Given the description of an element on the screen output the (x, y) to click on. 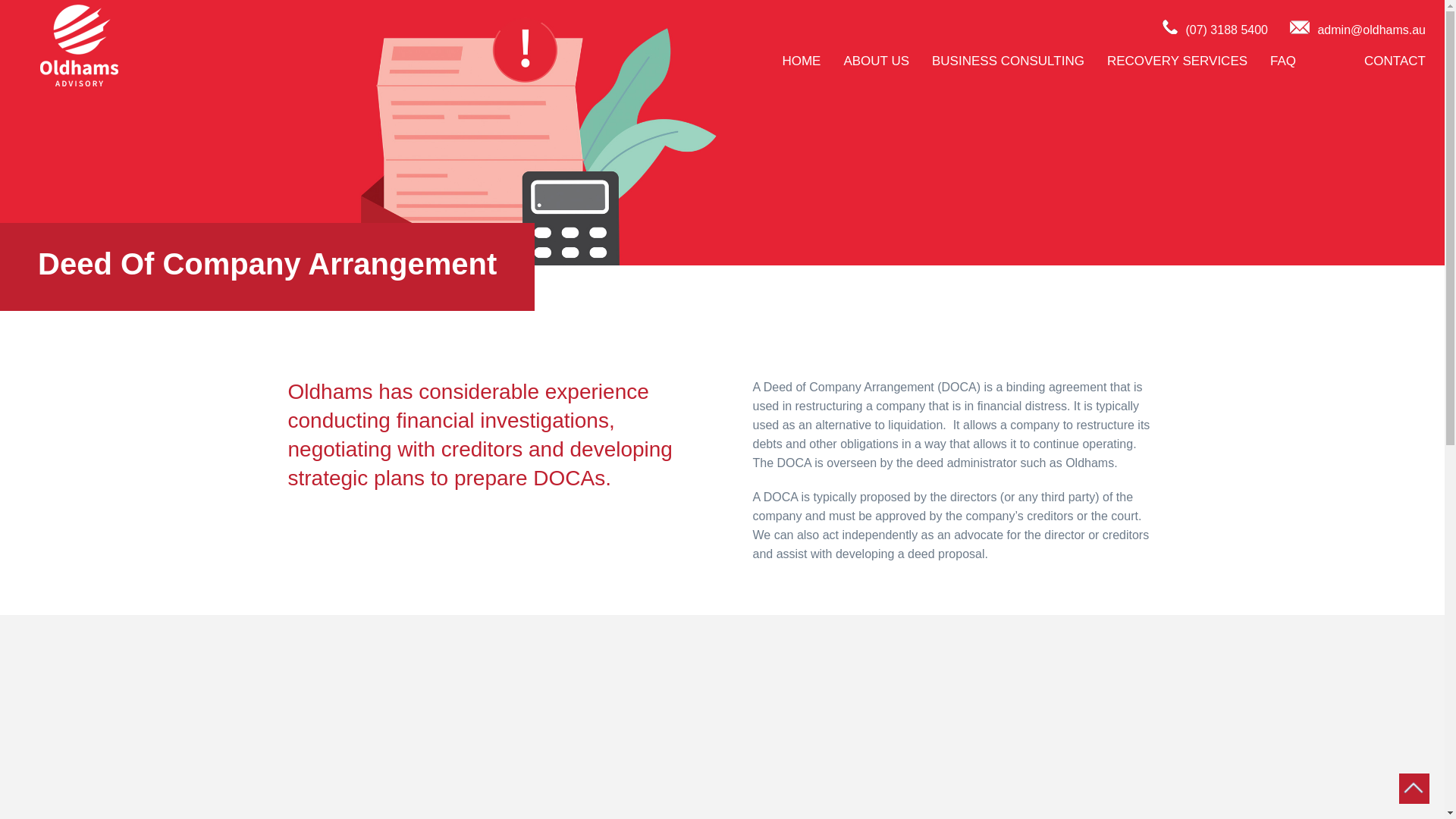
HOME (810, 60)
BUSINESS CONSULTING (1015, 60)
ABOUT US (884, 60)
